Given the description of an element on the screen output the (x, y) to click on. 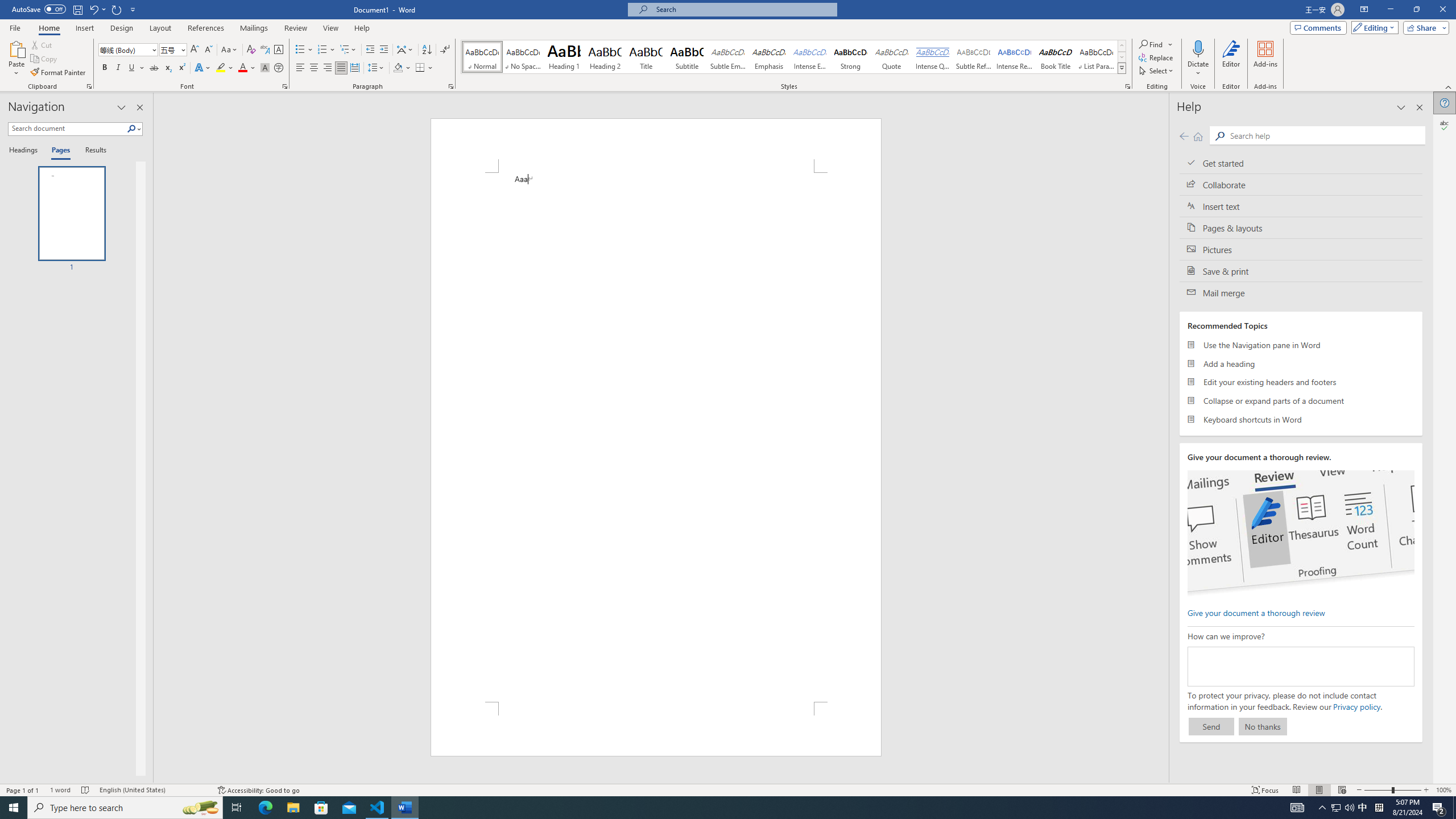
Superscript (180, 67)
Send (1211, 726)
Editor (1444, 125)
Find (1151, 44)
Print Layout (1318, 790)
Design (122, 28)
Privacy policy (1356, 706)
Center (313, 67)
Quote (891, 56)
Format Painter (58, 72)
Increase Indent (383, 49)
Strong (849, 56)
Sort... (426, 49)
